Given the description of an element on the screen output the (x, y) to click on. 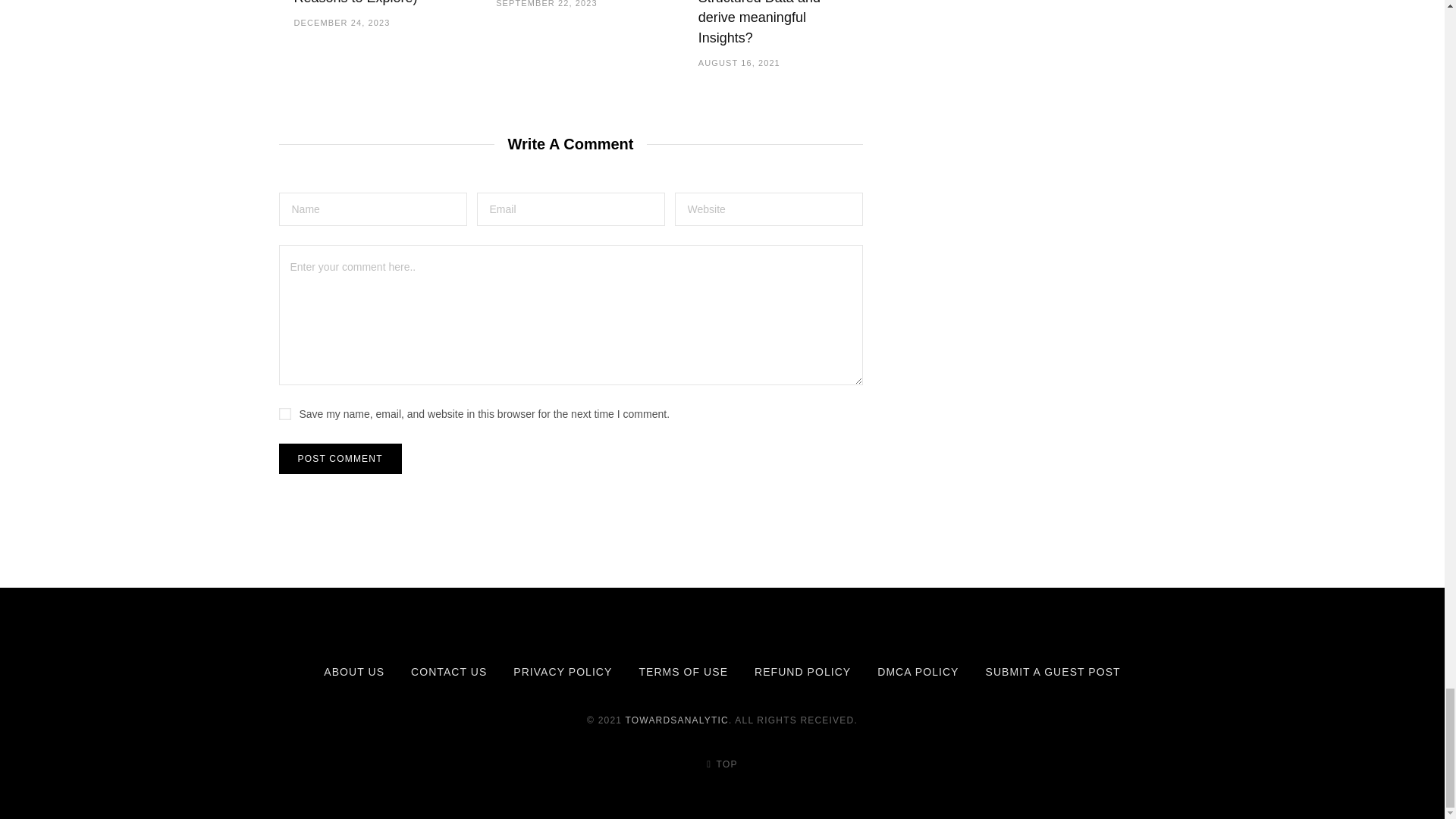
yes (285, 413)
Post Comment (340, 458)
